Given the description of an element on the screen output the (x, y) to click on. 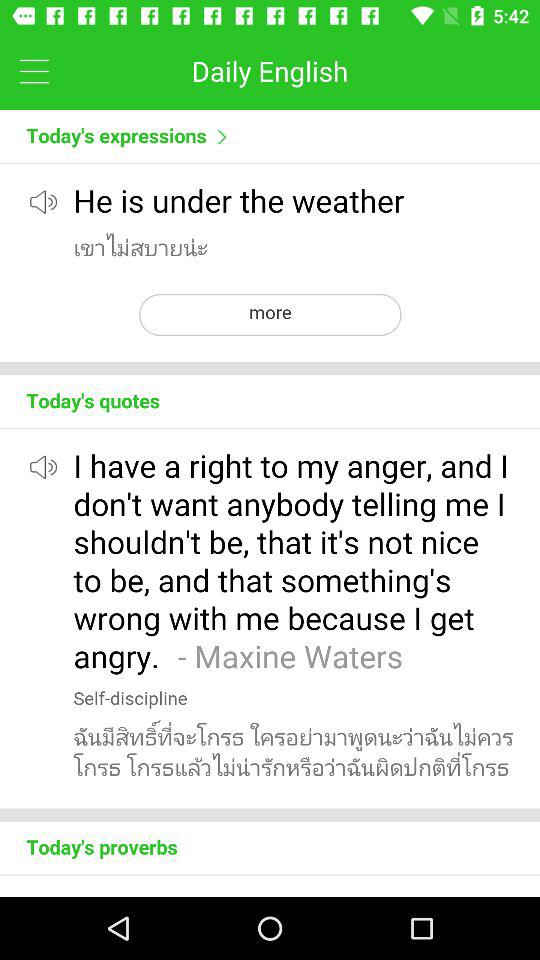
go to the option which is left to the daily english (33, 70)
